Given the description of an element on the screen output the (x, y) to click on. 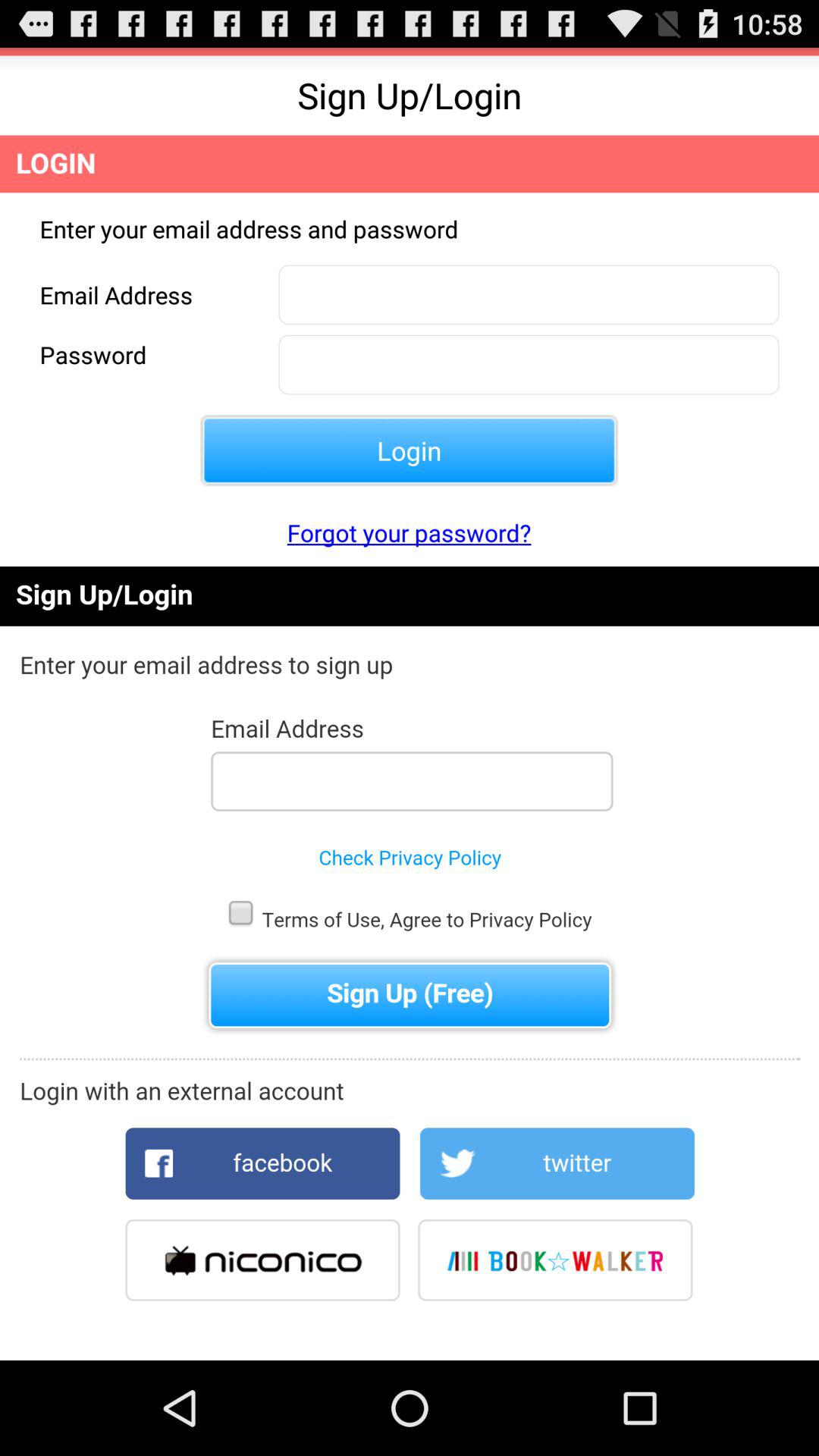
enter the password (528, 364)
